Given the description of an element on the screen output the (x, y) to click on. 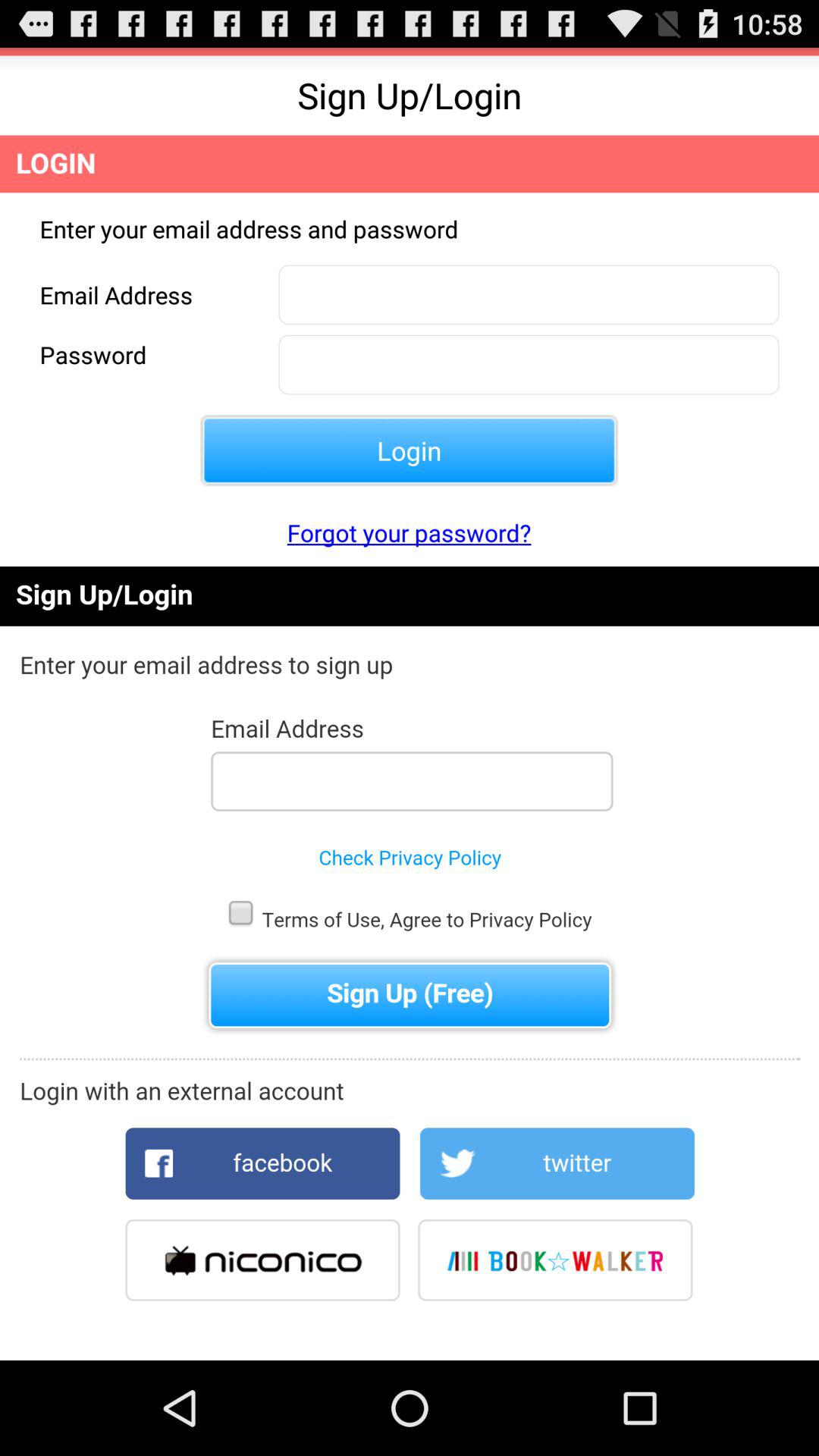
enter the password (528, 364)
